Given the description of an element on the screen output the (x, y) to click on. 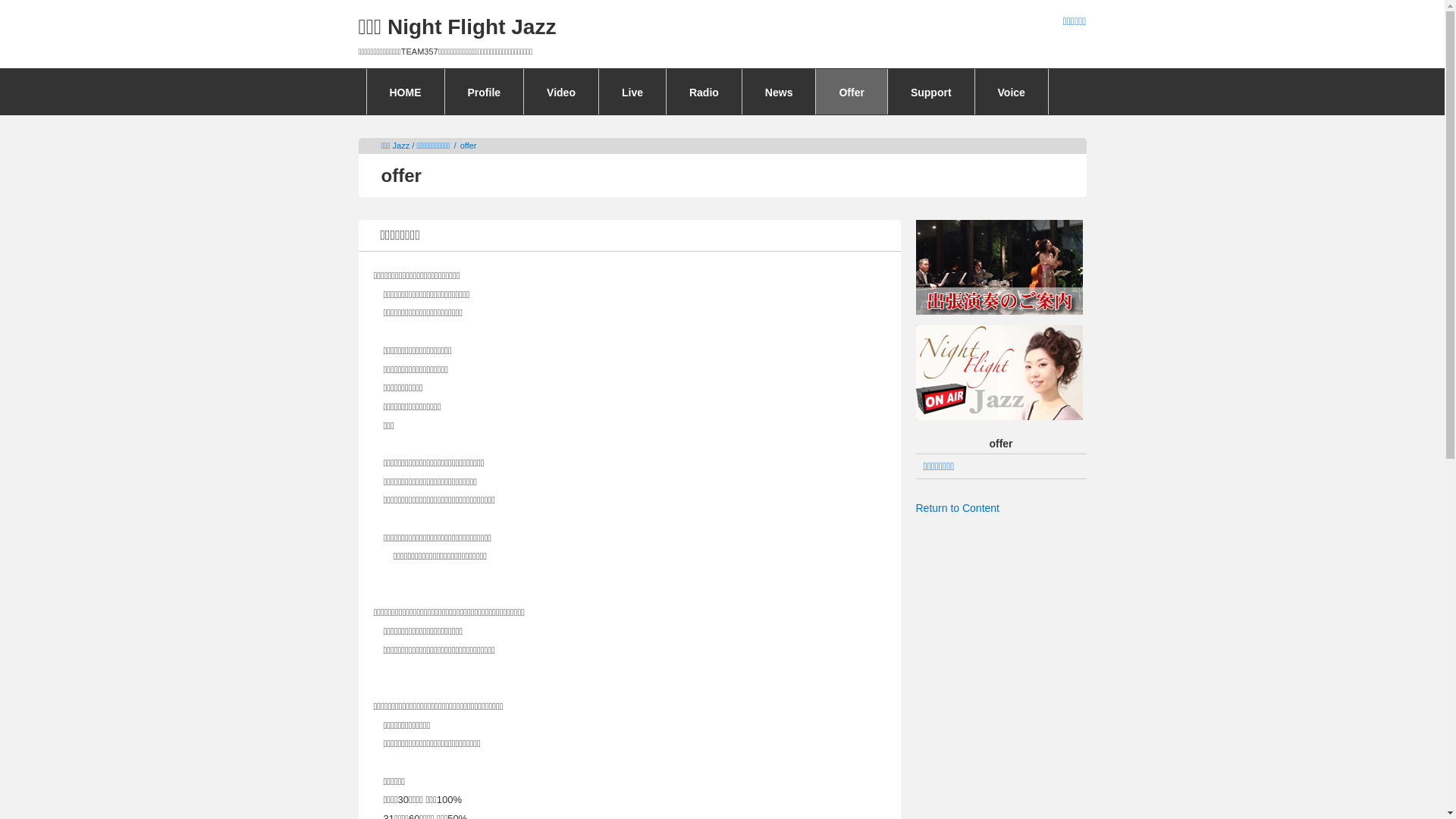
Voice Element type: text (1011, 91)
HOME Element type: text (405, 91)
News Element type: text (778, 91)
Video Element type: text (561, 91)
Offer Element type: text (850, 91)
Live Element type: text (632, 91)
Support Element type: text (931, 91)
Return to Content Element type: text (958, 508)
Radio Element type: text (703, 91)
Profile Element type: text (483, 91)
